Given the description of an element on the screen output the (x, y) to click on. 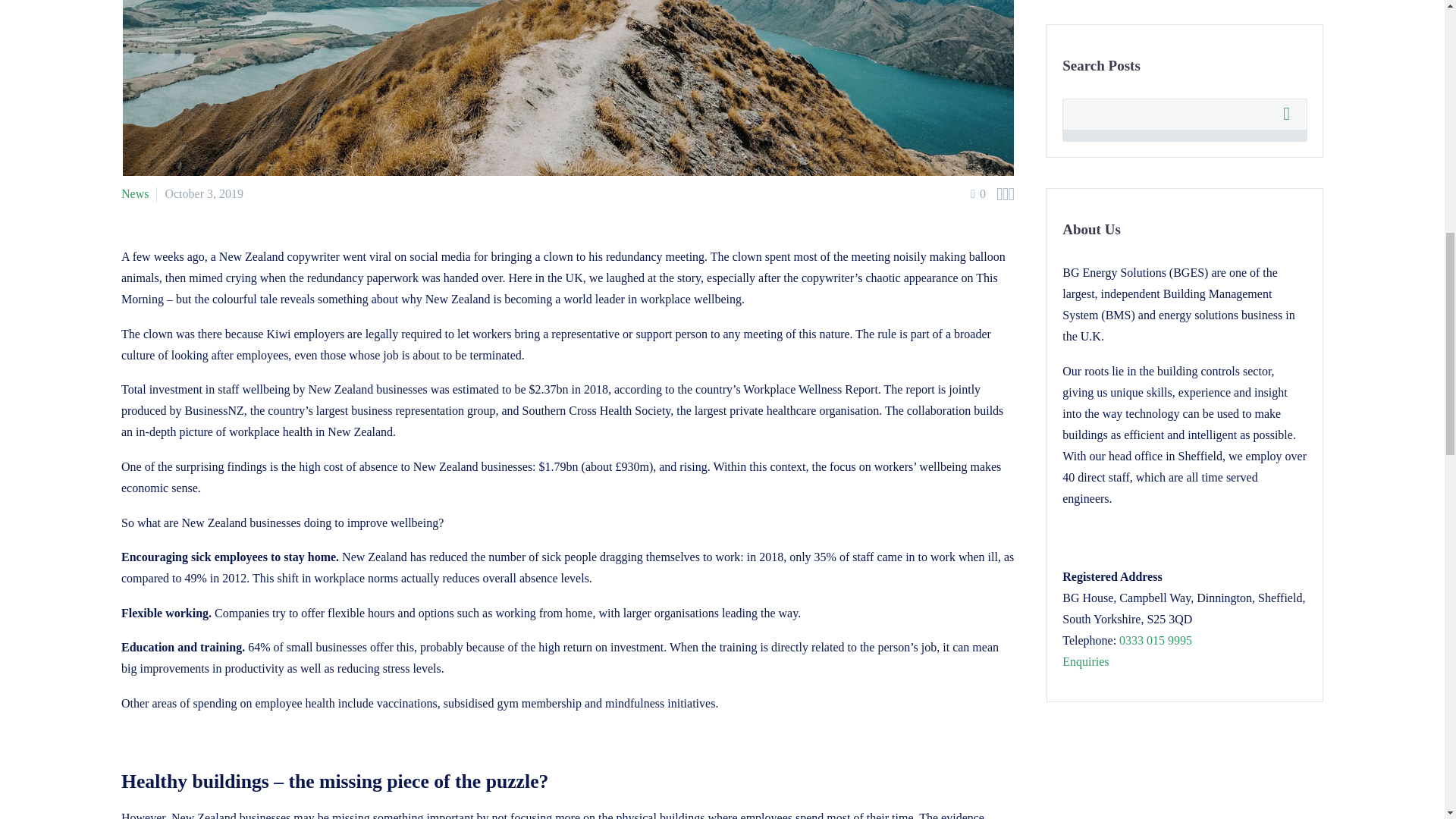
View all posts in News (134, 193)
